Given the description of an element on the screen output the (x, y) to click on. 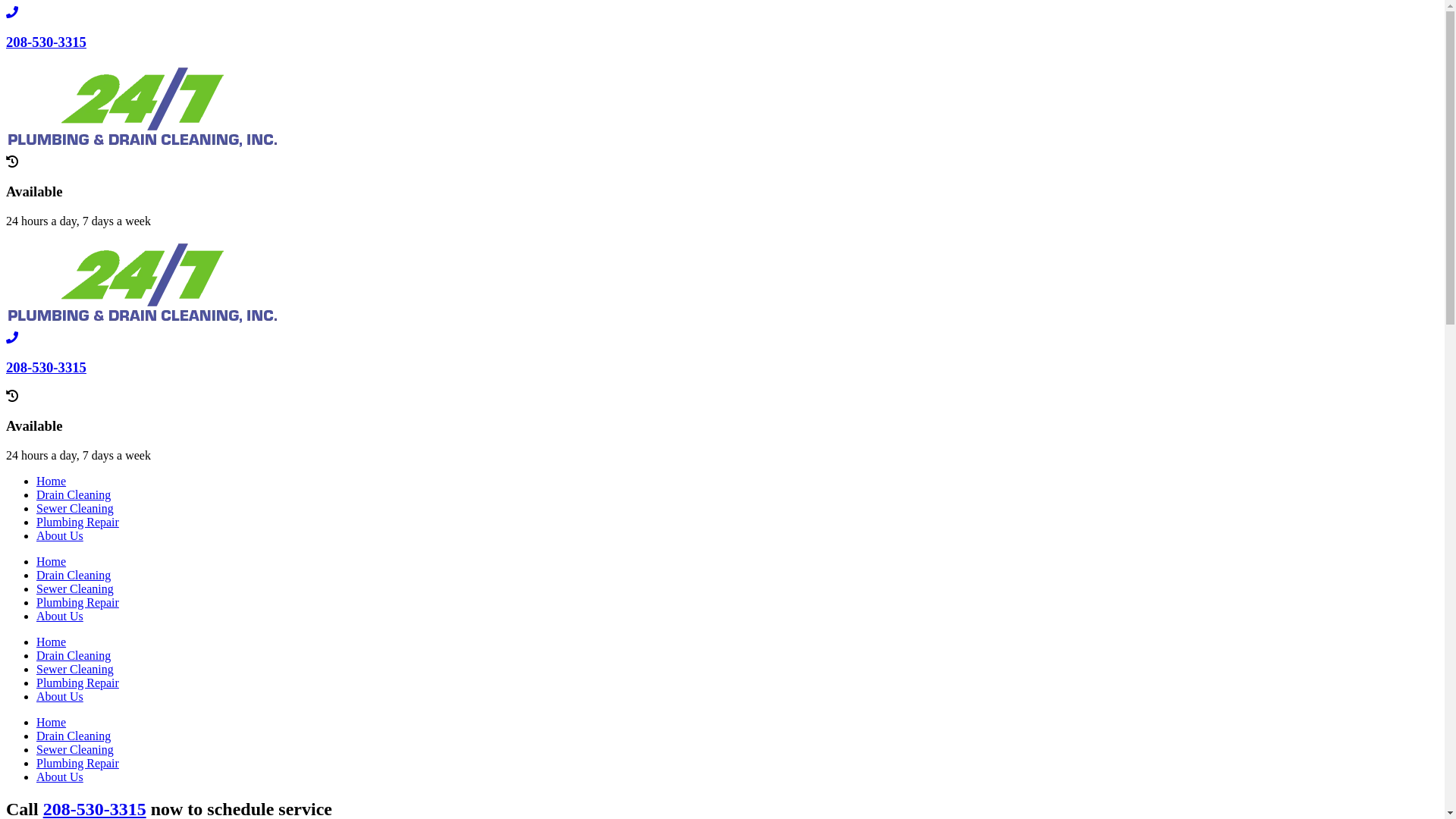
Home Element type: text (50, 561)
Home Element type: text (50, 721)
Home Element type: text (50, 641)
Sewer Cleaning Element type: text (74, 508)
208-530-3315 Element type: text (46, 42)
Drain Cleaning Element type: text (73, 574)
About Us Element type: text (59, 535)
About Us Element type: text (59, 776)
Drain Cleaning Element type: text (73, 655)
Drain Cleaning Element type: text (73, 494)
Drain Cleaning Element type: text (73, 735)
Home Element type: text (50, 480)
About Us Element type: text (59, 696)
Plumbing Repair Element type: text (77, 602)
Plumbing Repair Element type: text (77, 682)
Sewer Cleaning Element type: text (74, 588)
Sewer Cleaning Element type: text (74, 749)
208-530-3315 Element type: text (46, 367)
Plumbing Repair Element type: text (77, 521)
Sewer Cleaning Element type: text (74, 668)
About Us Element type: text (59, 615)
Plumbing Repair Element type: text (77, 762)
